Given the description of an element on the screen output the (x, y) to click on. 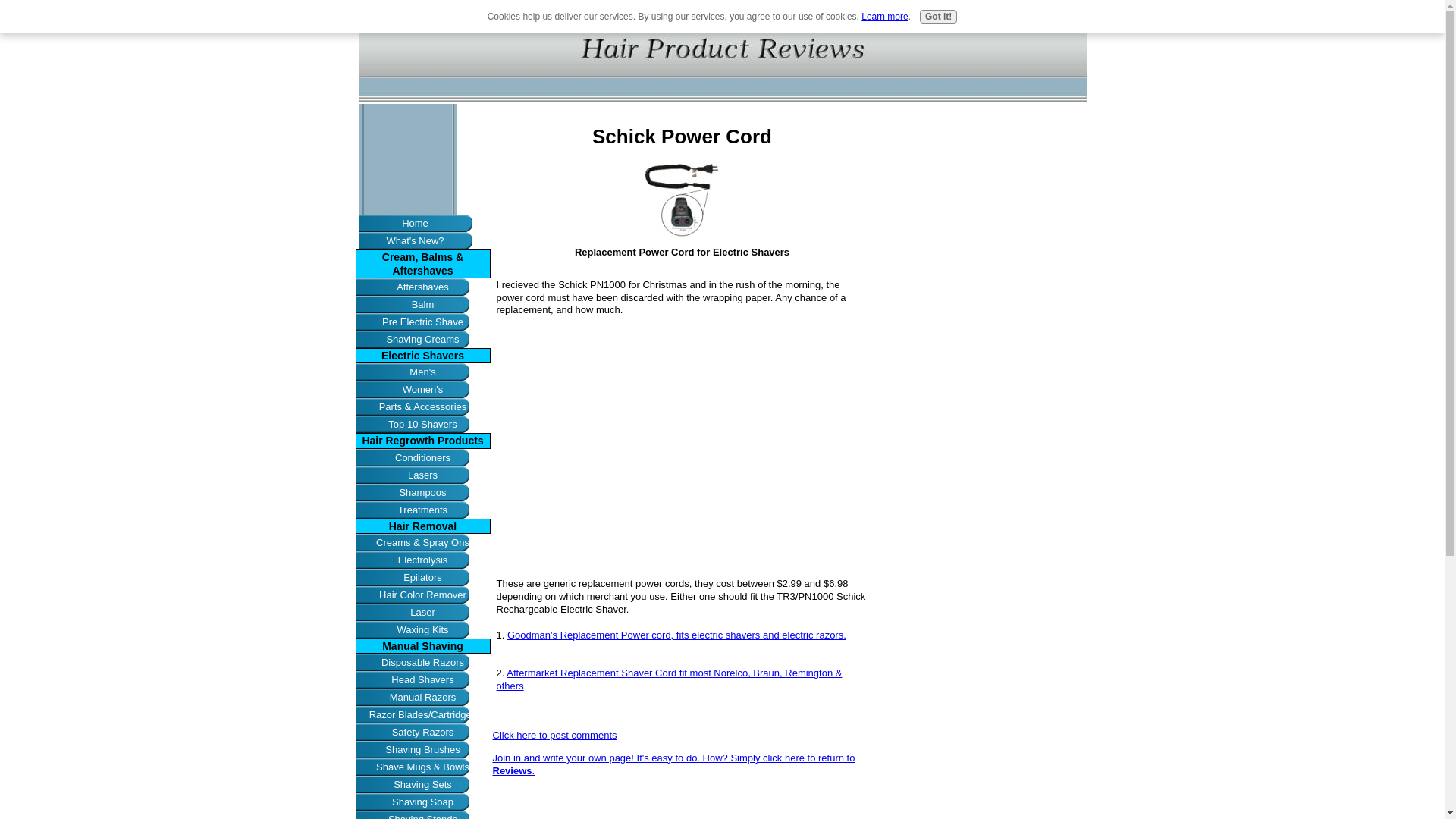
Head Shavers (422, 679)
What's New? (414, 240)
Shaving Sets (422, 784)
Shaving Brushes (422, 749)
Laser (422, 611)
Hair Color Remover (422, 594)
Women's (422, 389)
Advertisement (682, 803)
Shampoos (422, 492)
Advertisement (681, 445)
Epilators (422, 577)
Men's (422, 371)
Click here to post comments (555, 735)
Manual Razors (422, 696)
